Given the description of an element on the screen output the (x, y) to click on. 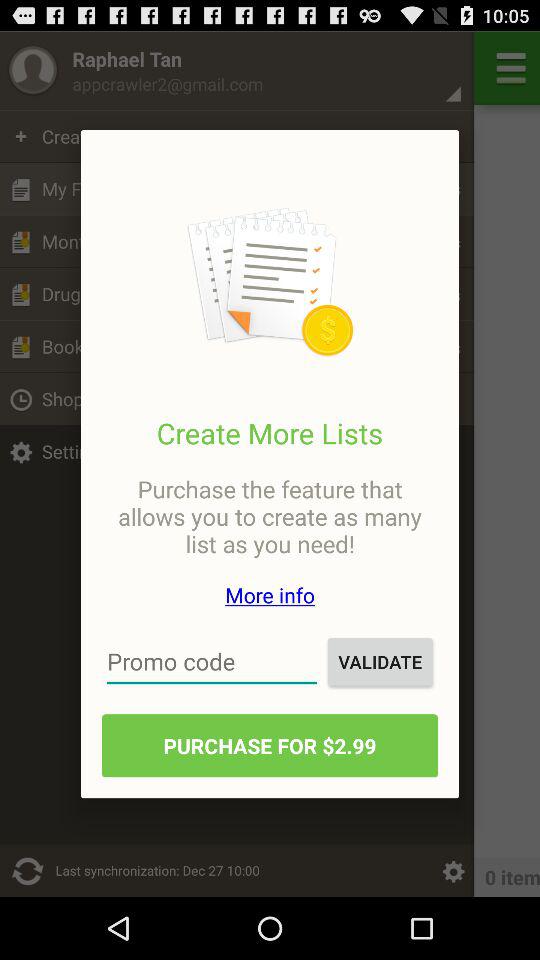
click the icon above purchase for 2 item (379, 661)
